Given the description of an element on the screen output the (x, y) to click on. 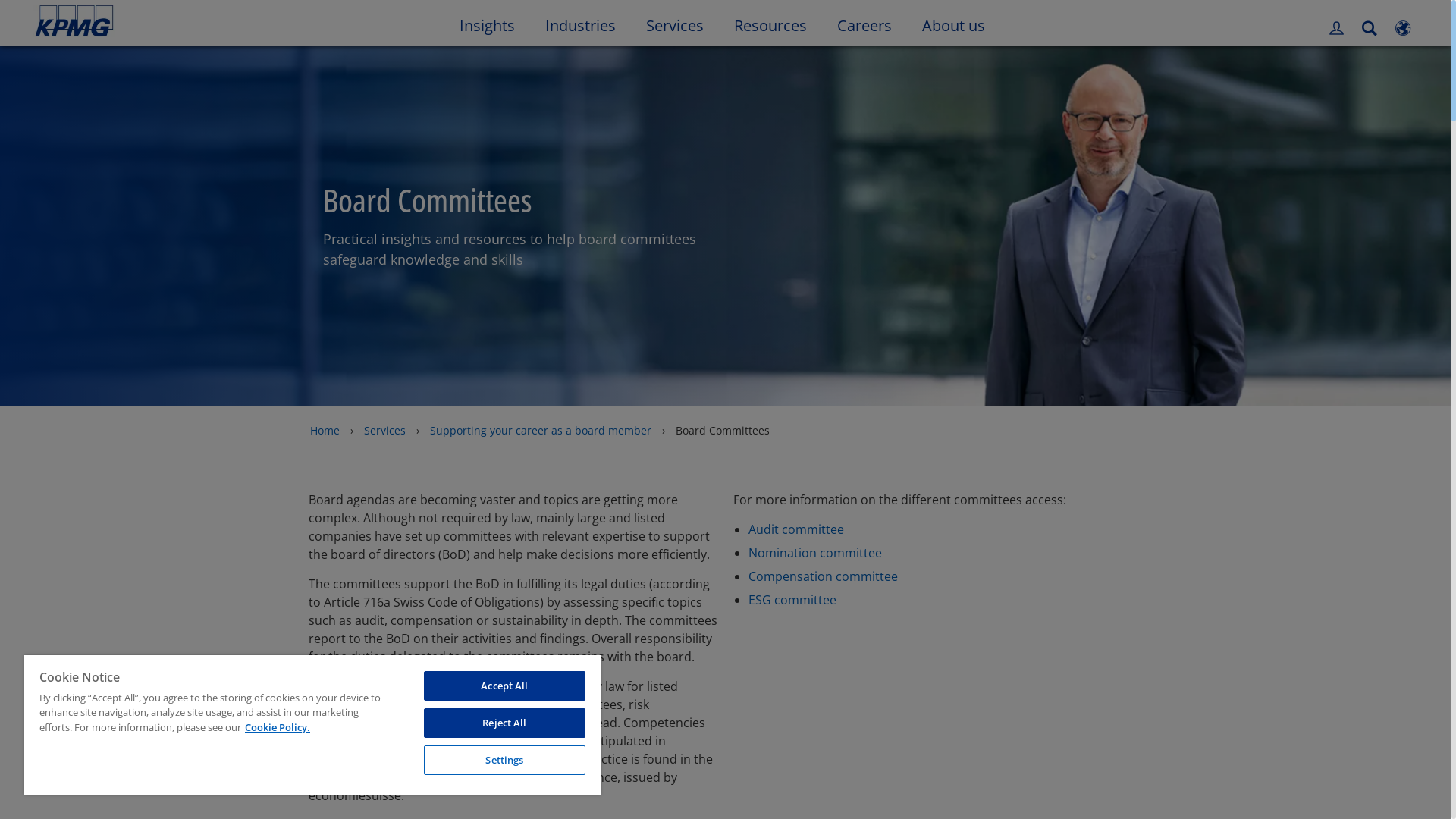
Reject All Element type: text (504, 722)
Skip to content Element type: text (175, 21)
Settings Element type: text (504, 760)
Home Element type: text (324, 430)
Insights Element type: text (487, 23)
Compensation committee Element type: text (822, 575)
Accept All Element type: text (504, 685)
Supporting your career as a board member Element type: text (540, 430)
Industries Element type: text (579, 23)
Audit committee Element type: text (796, 528)
Cookie Policy. Element type: text (277, 727)
Services Element type: text (384, 430)
Nomination committee Element type: text (814, 552)
ESG committee Element type: text (792, 599)
Resources Element type: text (770, 23)
About us Element type: text (953, 23)
Services Element type: text (674, 23)
Careers Element type: text (864, 23)
